Given the description of an element on the screen output the (x, y) to click on. 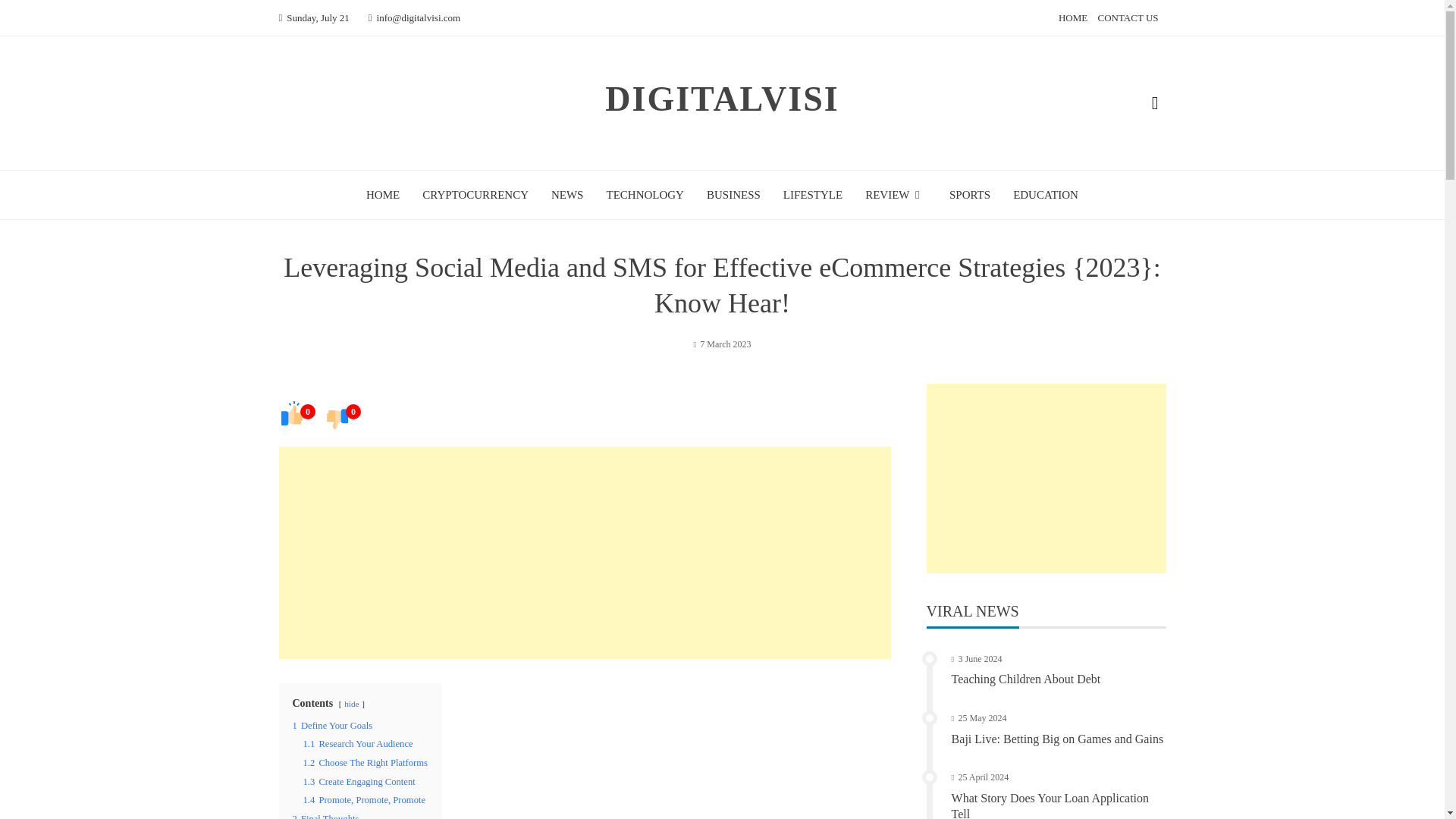
hide (350, 703)
1.1 Research Your Audience (357, 743)
1.4 Promote, Promote, Promote (364, 799)
LIFESTYLE (813, 194)
2 Final Thoughts (325, 816)
1.2 Choose The Right Platforms (365, 762)
EDUCATION (1045, 194)
DIGITALVISI (721, 98)
TECHNOLOGY (644, 194)
Advertisement (1046, 478)
HOME (382, 194)
REVIEW (895, 194)
CONTACT US (1127, 17)
HOME (1072, 17)
SPORTS (969, 194)
